Given the description of an element on the screen output the (x, y) to click on. 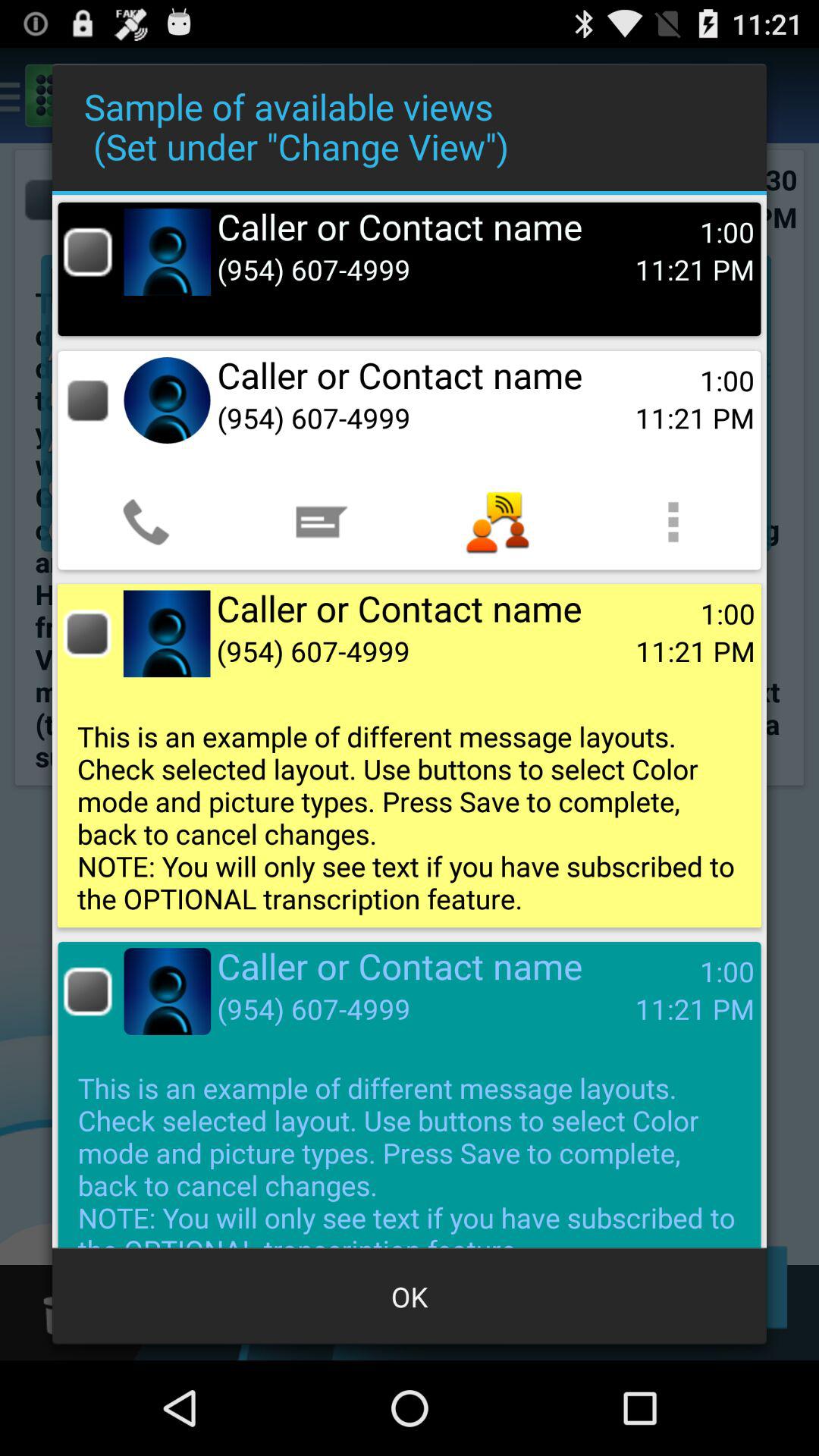
launch icon above the caller or contact app (672, 521)
